Given the description of an element on the screen output the (x, y) to click on. 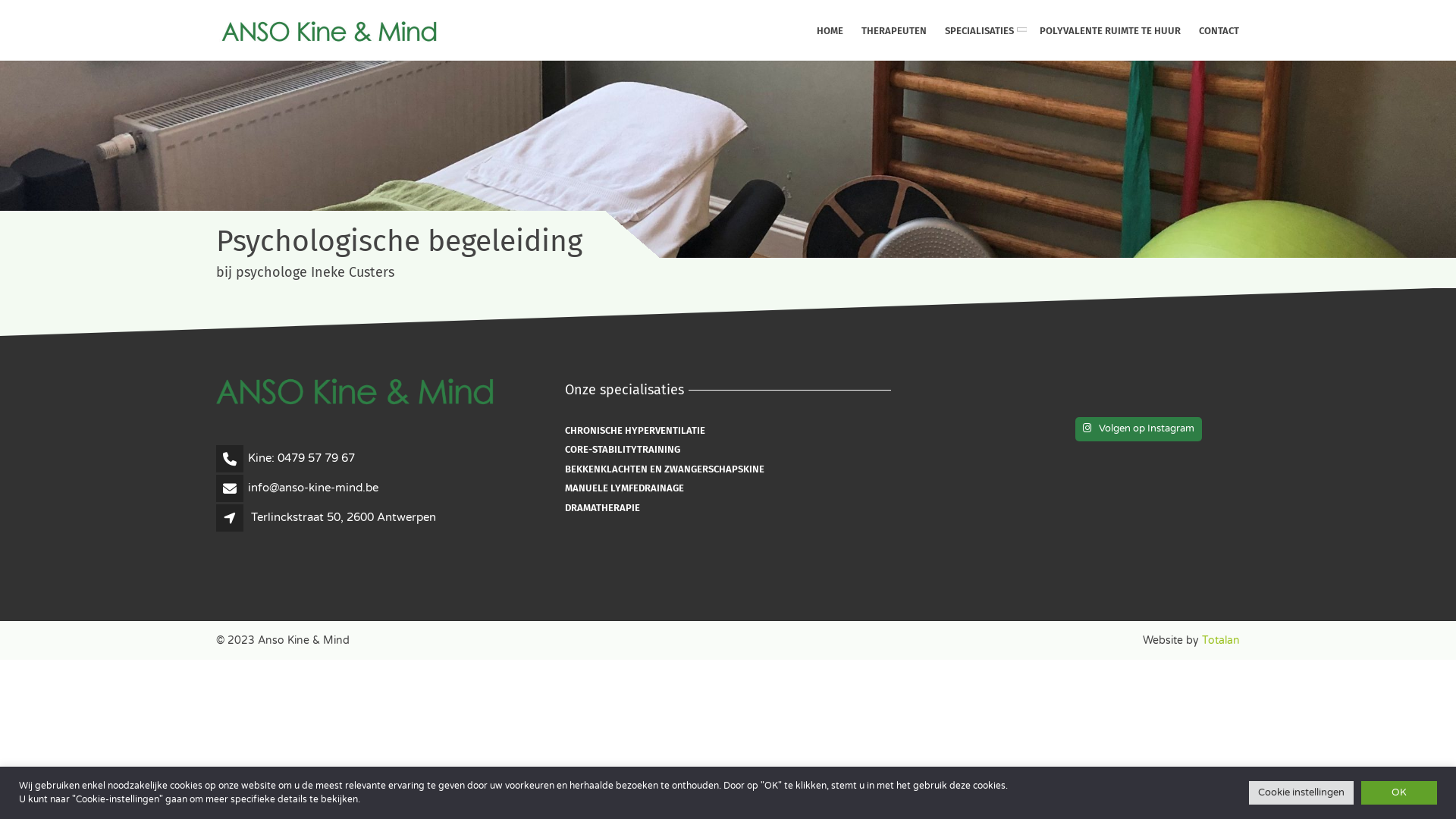
CHRONISCHE HYPERVENTILATIE Element type: text (634, 430)
DRAMATHERAPIE Element type: text (602, 507)
OK Element type: text (1399, 792)
Kine: 0479 57 79 67 Element type: text (300, 457)
POLYVALENTE RUIMTE TE HUUR Element type: text (1109, 30)
Terlinckstraat 50, 2600 Antwerpen Element type: text (343, 517)
CONTACT Element type: text (1218, 30)
MANUELE LYMFEDRAINAGE Element type: text (624, 488)
THERAPEUTEN Element type: text (893, 30)
HOME Element type: text (829, 30)
Cookie instellingen Element type: text (1300, 792)
Volgen op Instagram Element type: text (1138, 429)
Totalan Element type: text (1220, 639)
SPECIALISATIES Element type: text (982, 30)
CORE-STABILITYTRAINING Element type: text (622, 449)
BEKKENKLACHTEN EN ZWANGERSCHAPSKINE Element type: text (664, 469)
info@anso-kine-mind.be Element type: text (312, 487)
